Given the description of an element on the screen output the (x, y) to click on. 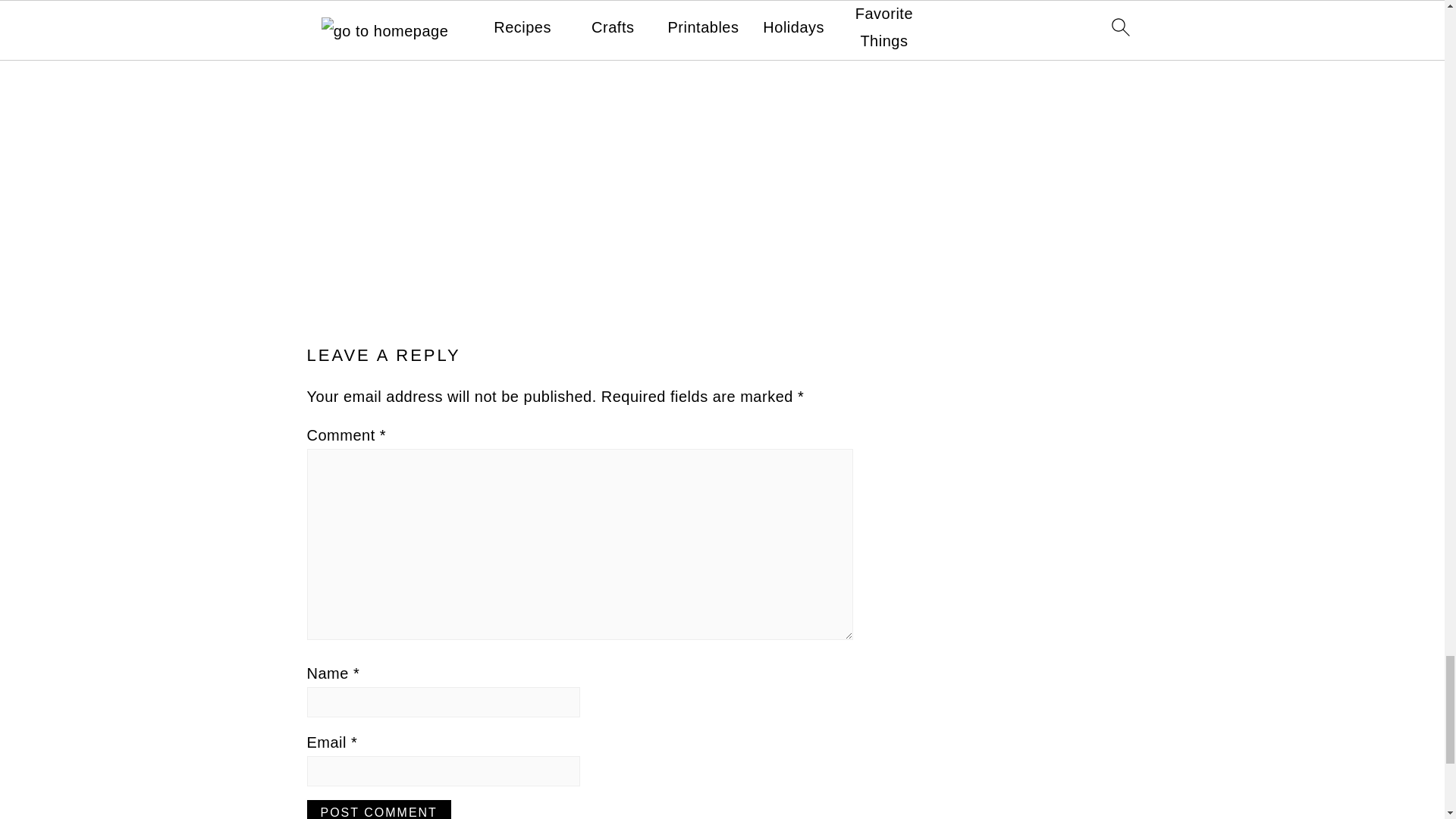
Post Comment (377, 809)
